Given the description of an element on the screen output the (x, y) to click on. 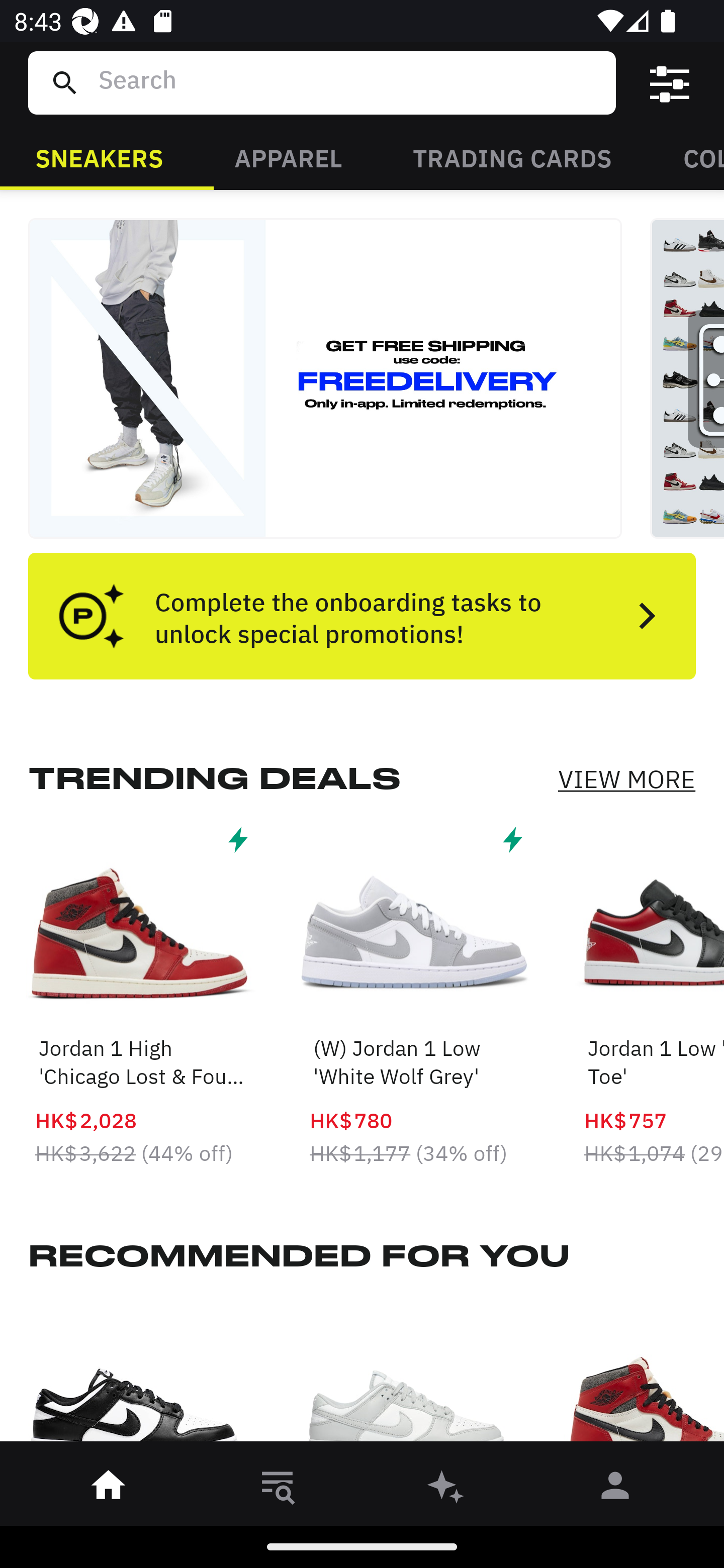
Search (349, 82)
 (669, 82)
SNEAKERS (99, 156)
APPAREL (287, 156)
TRADING CARDS (512, 156)
VIEW MORE (626, 779)
󰋜 (108, 1488)
󱎸 (277, 1488)
󰫢 (446, 1488)
󰀄 (615, 1488)
